Given the description of an element on the screen output the (x, y) to click on. 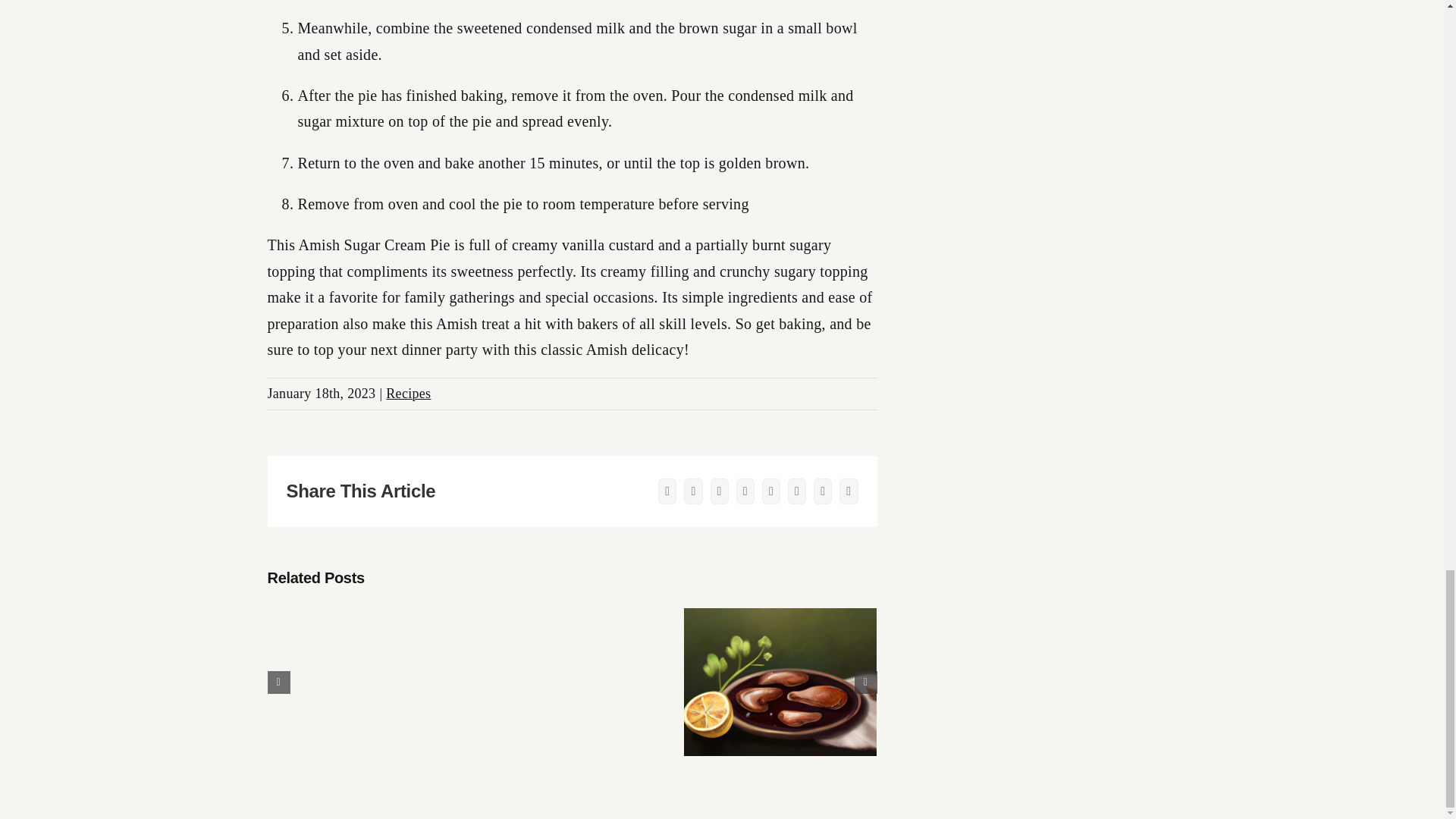
Recipes (407, 393)
